Given the description of an element on the screen output the (x, y) to click on. 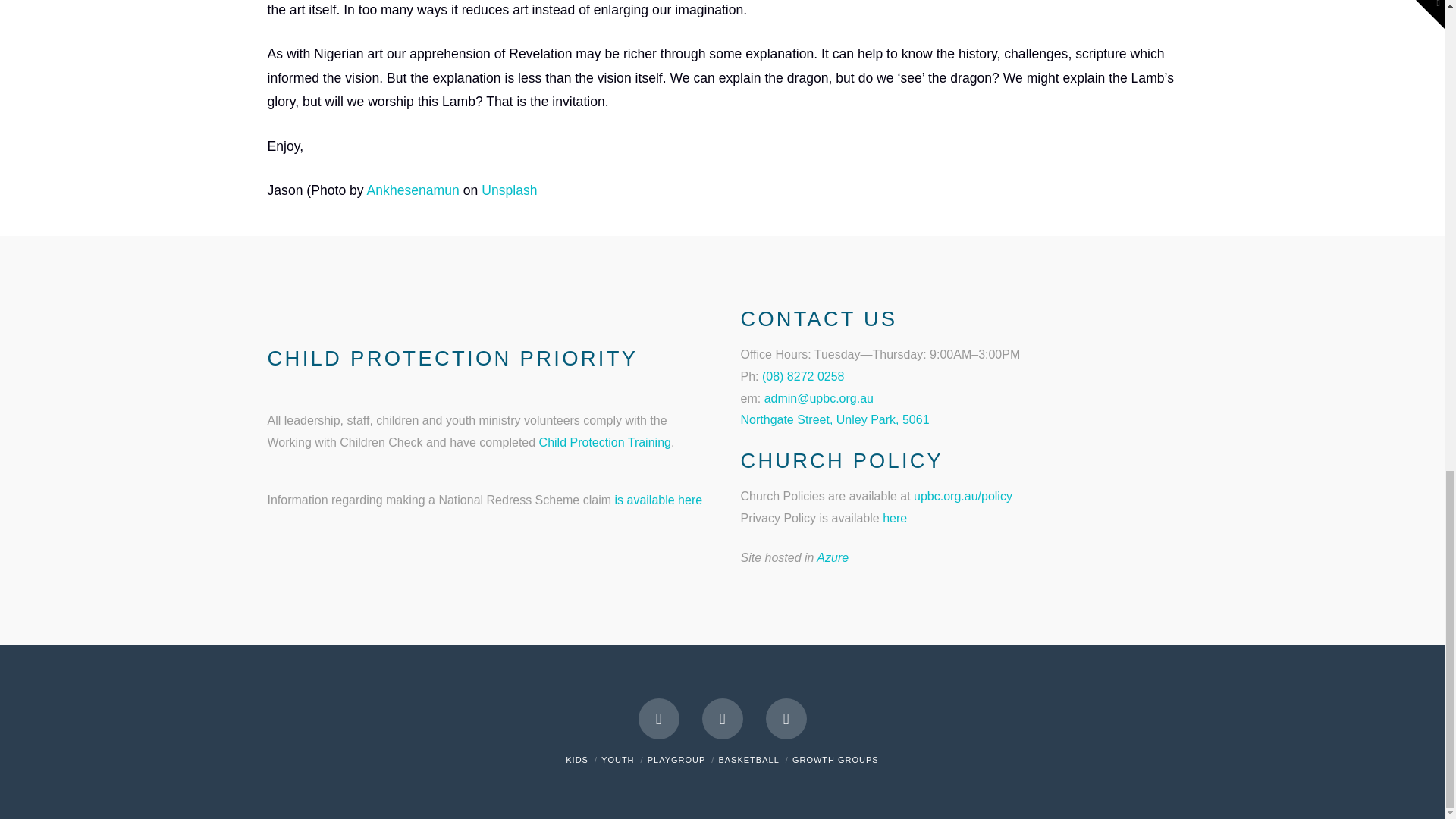
Facebook (659, 718)
YouTube (721, 718)
Instagram (785, 718)
